Given the description of an element on the screen output the (x, y) to click on. 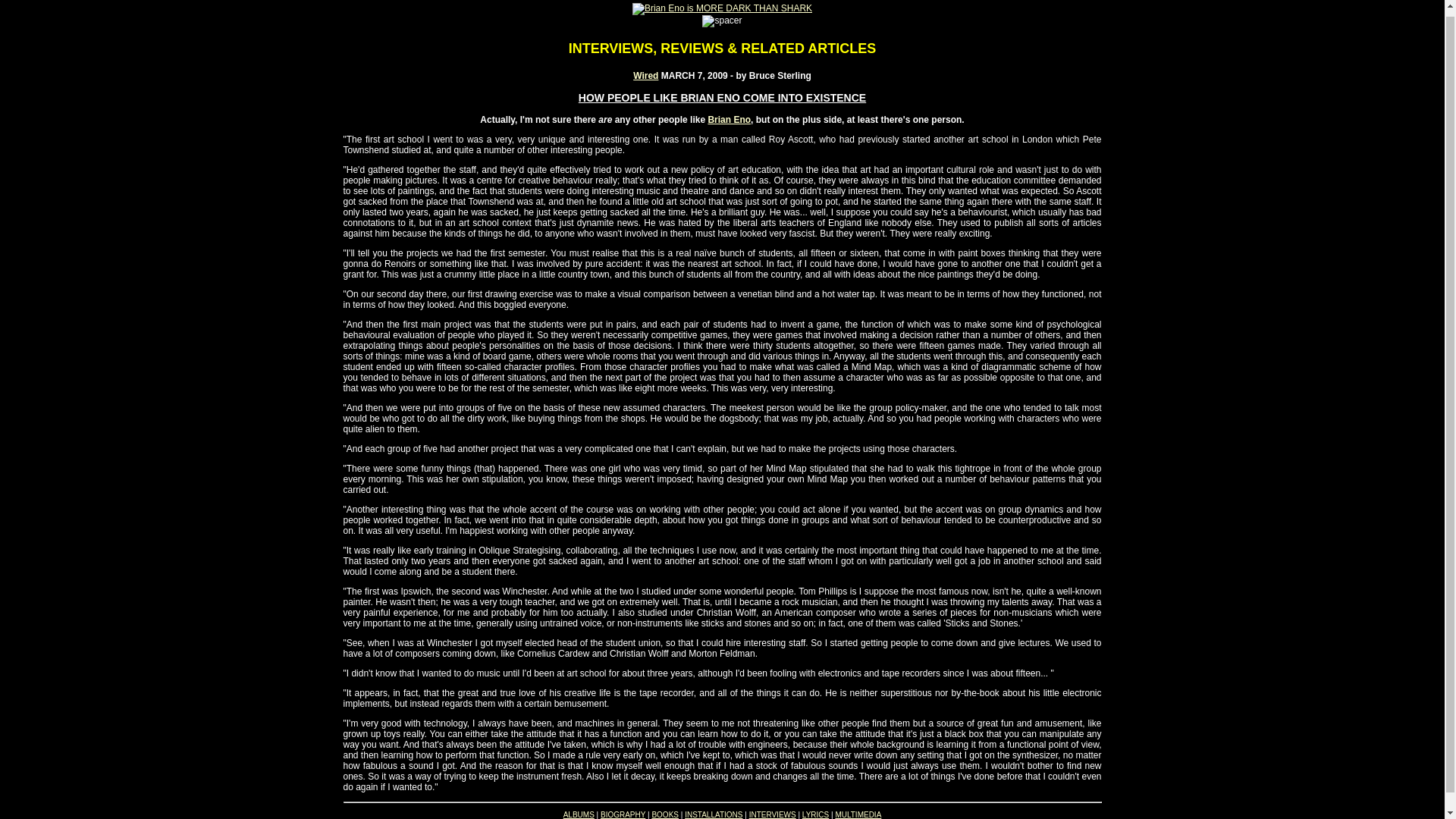
Brian Eno (729, 119)
Wired (645, 75)
